Given the description of an element on the screen output the (x, y) to click on. 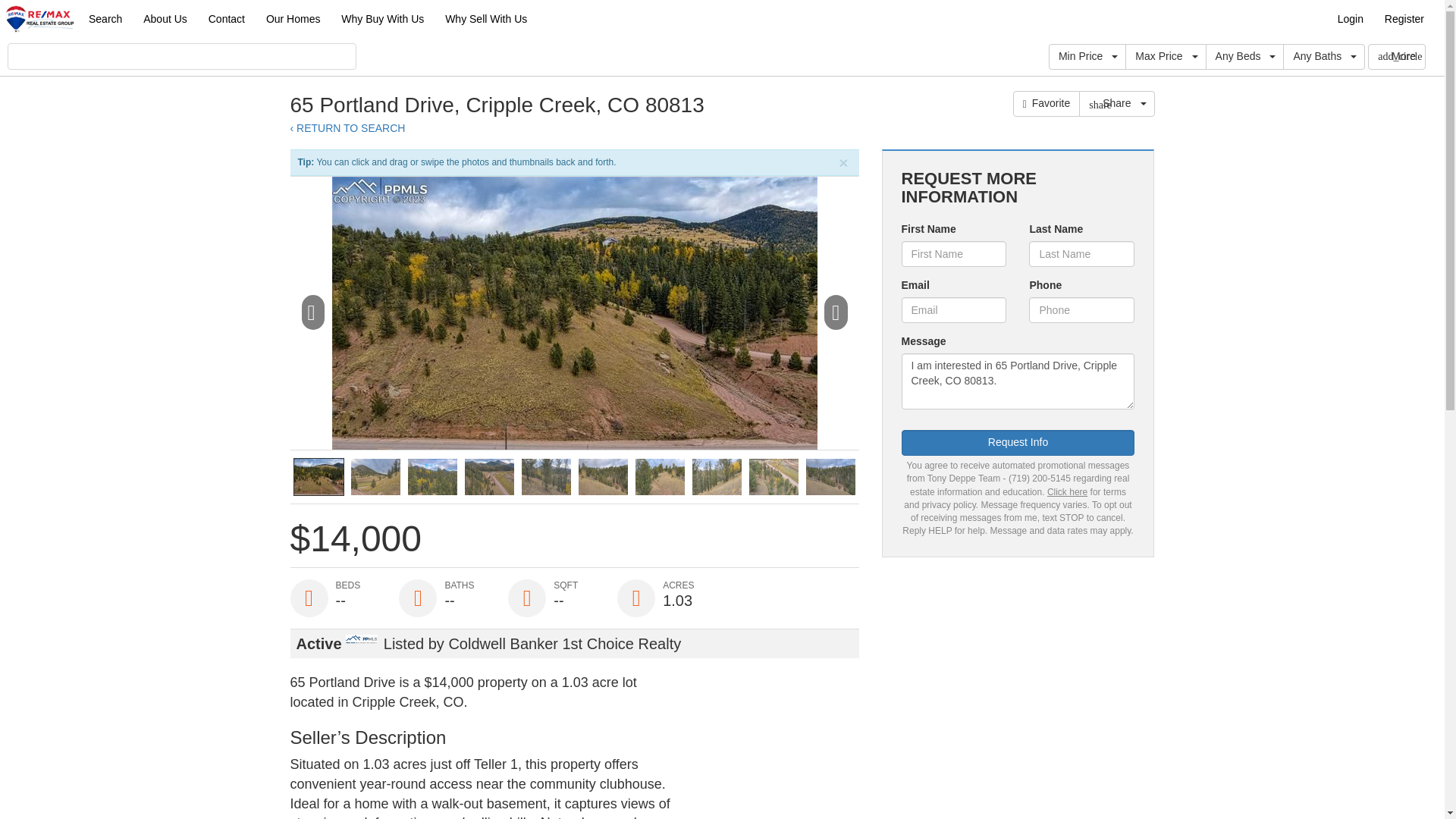
Why Buy With Us (381, 18)
Min Price (1086, 56)
Our Homes (293, 18)
Register (1403, 18)
About Us (164, 18)
Why Sell With Us (485, 18)
Login (1350, 18)
Contact (226, 18)
Search (105, 18)
